Given the description of an element on the screen output the (x, y) to click on. 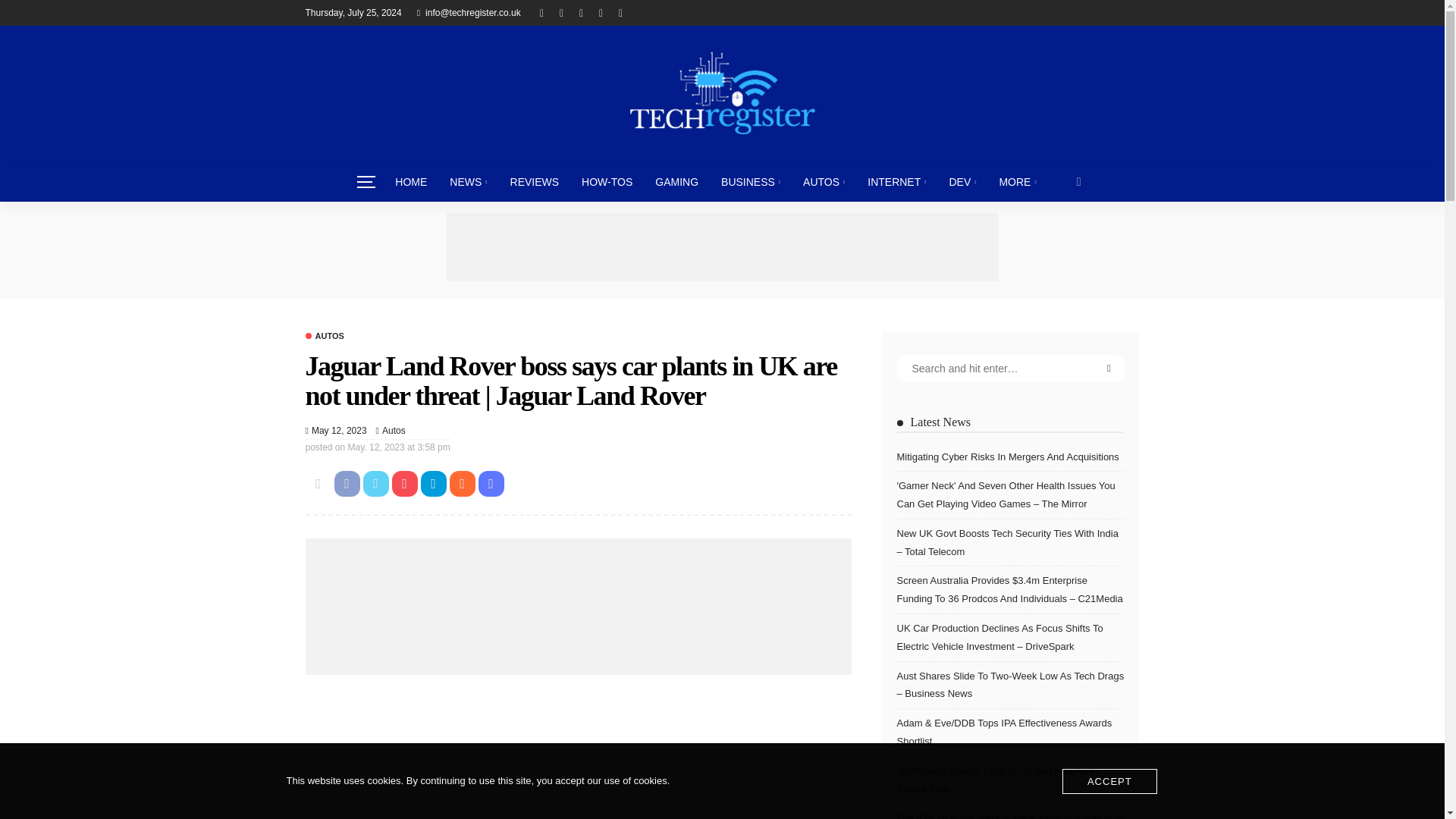
Autos (323, 336)
Autos (393, 430)
Advertisement (721, 246)
search (1079, 181)
Advertisement (577, 754)
Techregister (721, 93)
